Given the description of an element on the screen output the (x, y) to click on. 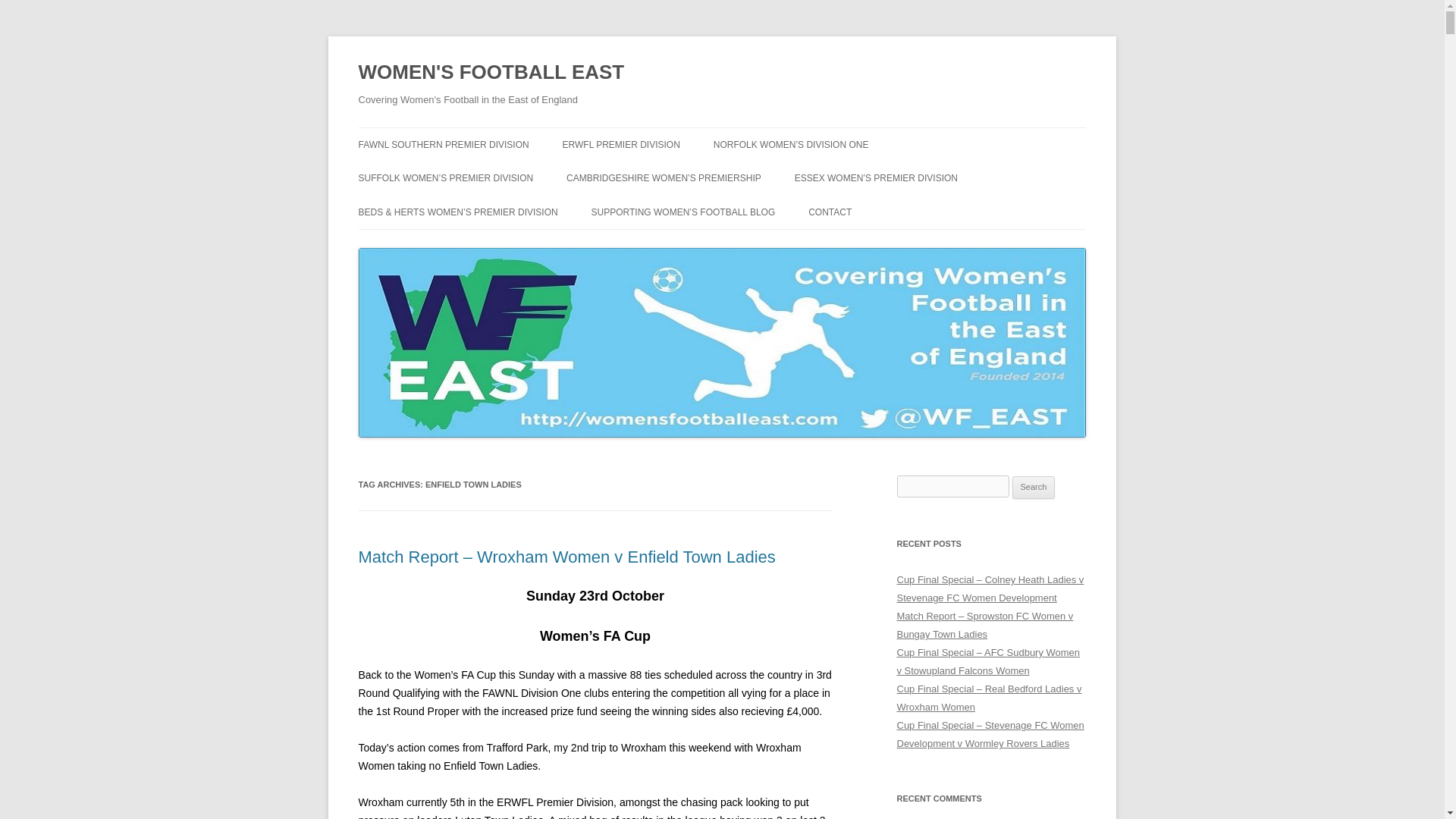
FAWNL SOUTHERN PREMIER DIVISION (443, 144)
ERWFL DIVISION ONE NORTH (638, 176)
FAWNL SOUTH EAST DIVISION ONE (433, 185)
Search (1033, 486)
ERWFL PREMIER DIVISION (620, 144)
WOMEN'S FOOTBALL EAST (491, 72)
